Given the description of an element on the screen output the (x, y) to click on. 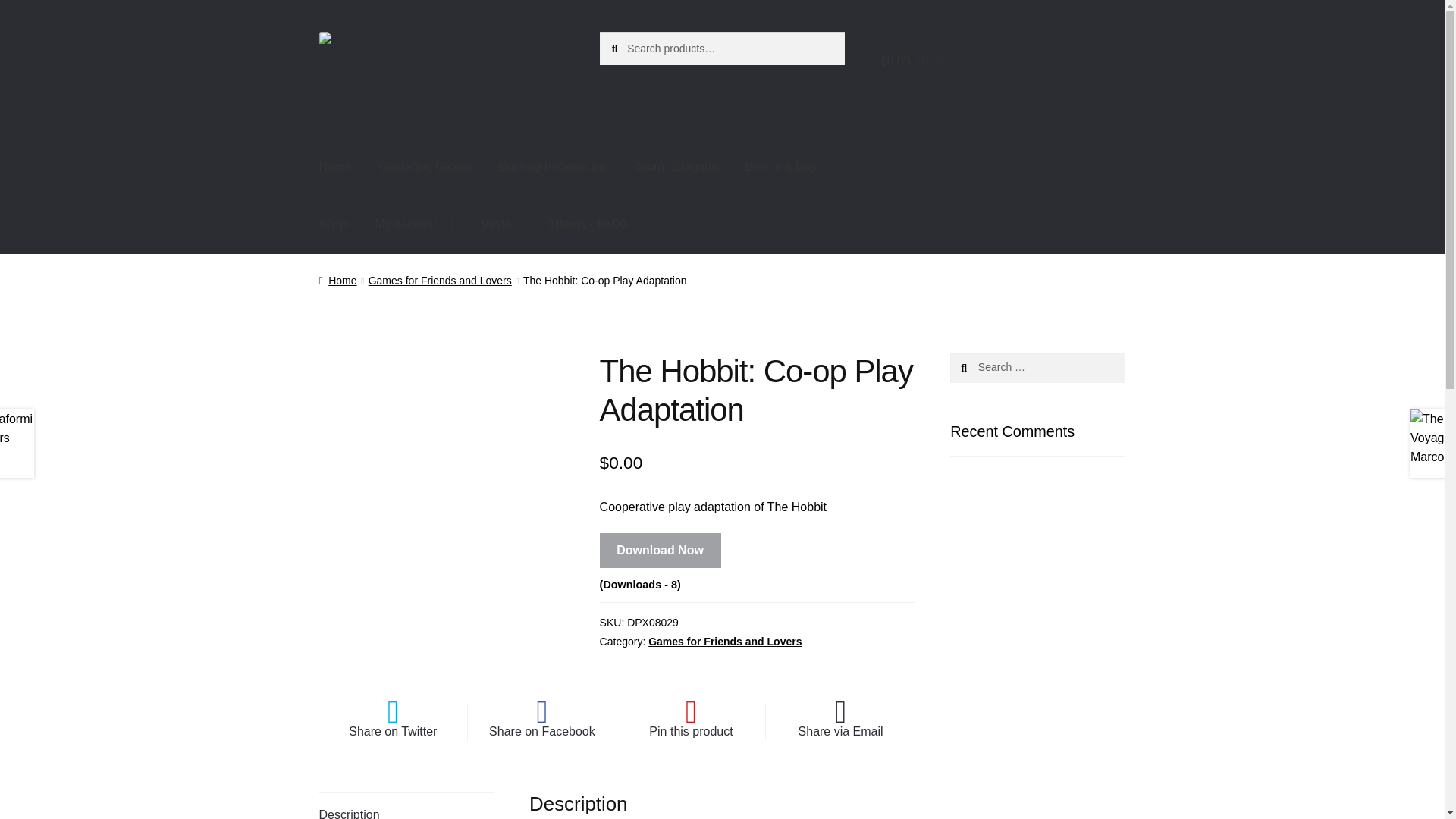
Built in a Day (780, 166)
Vesta (495, 223)
Home (335, 166)
Start shopping (583, 223)
Download Now (659, 550)
Shop (333, 223)
Storm Dragons (677, 166)
Share on Facebook (541, 721)
